Given the description of an element on the screen output the (x, y) to click on. 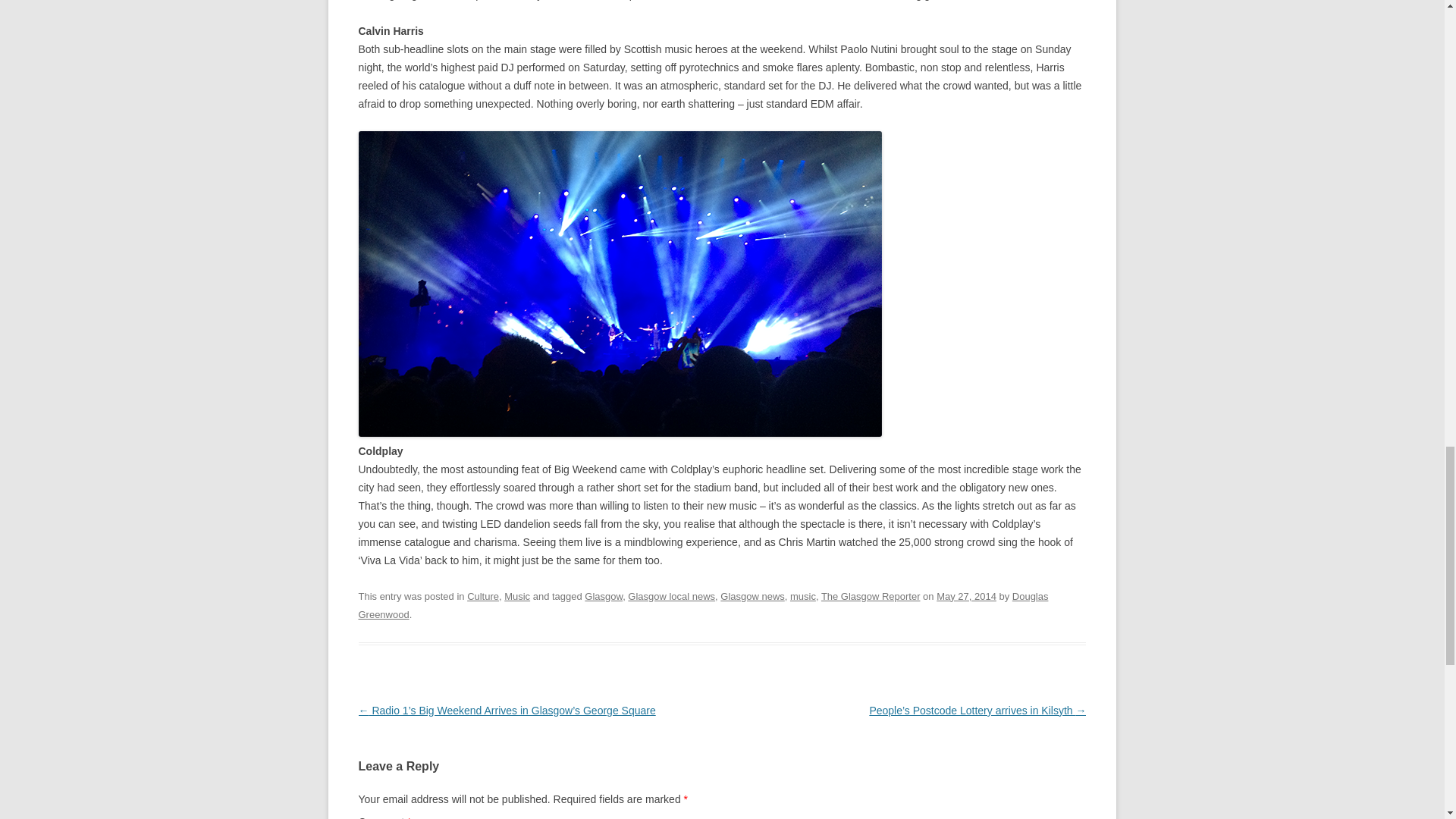
music (802, 595)
3:32 pm (965, 595)
Douglas Greenwood (703, 604)
May 27, 2014 (965, 595)
View all posts by Douglas Greenwood (703, 604)
The Glasgow Reporter (870, 595)
Glasgow (604, 595)
Glasgow news (752, 595)
Music (516, 595)
Culture (483, 595)
